Given the description of an element on the screen output the (x, y) to click on. 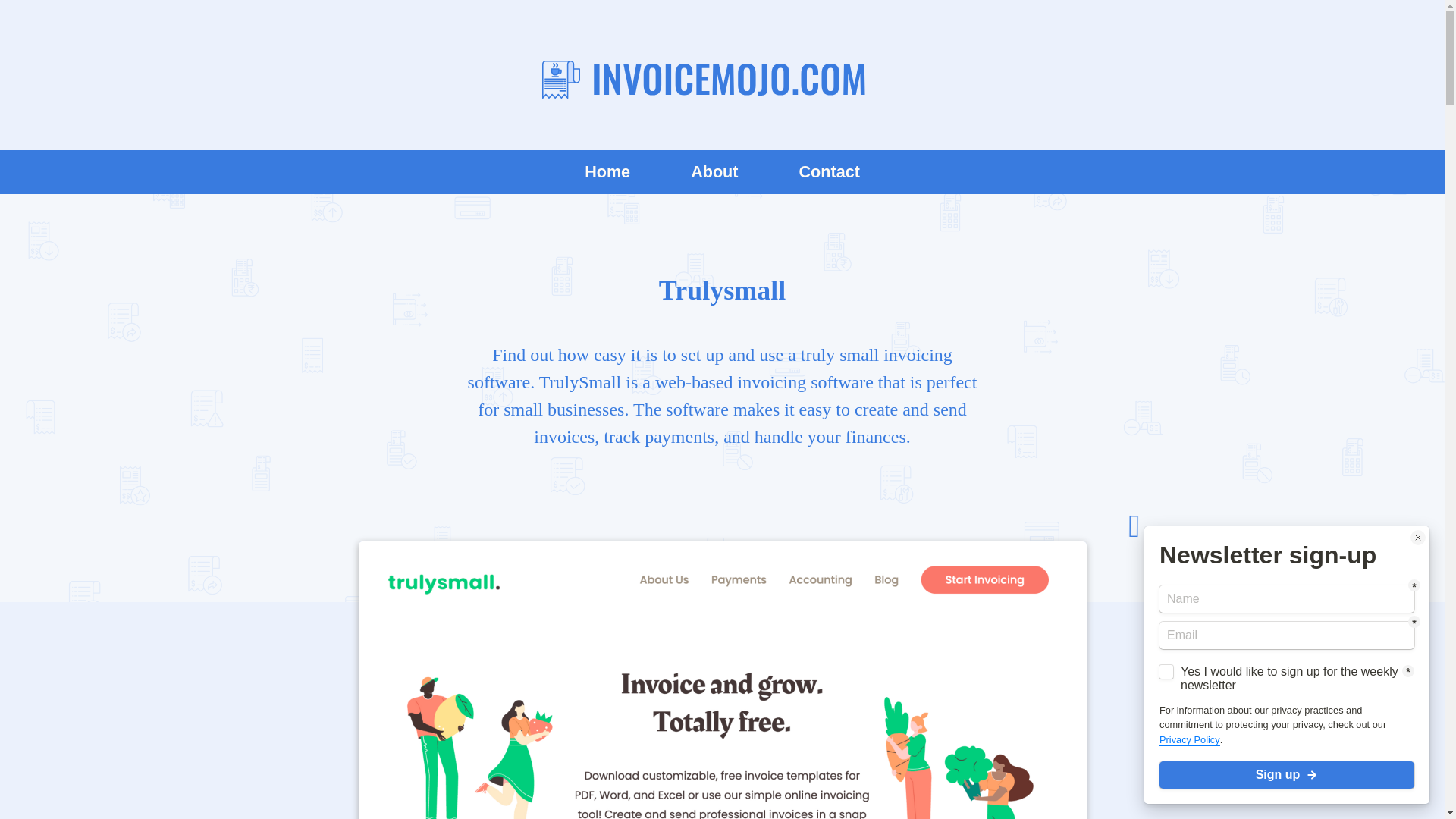
Home (607, 171)
About (714, 171)
Contact (828, 171)
Tally Forms (1286, 664)
